Given the description of an element on the screen output the (x, y) to click on. 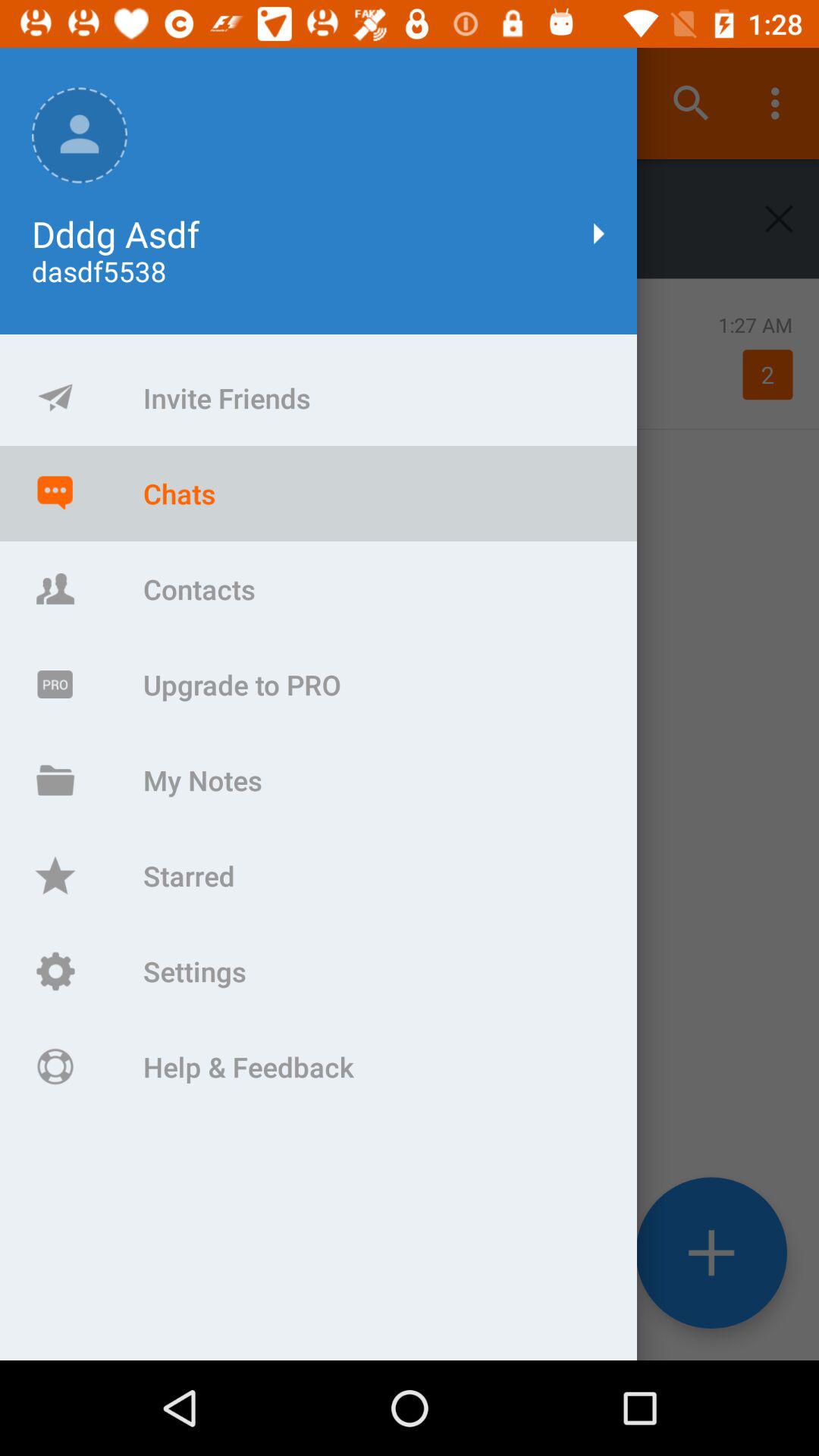
add new contact (711, 1252)
